Given the description of an element on the screen output the (x, y) to click on. 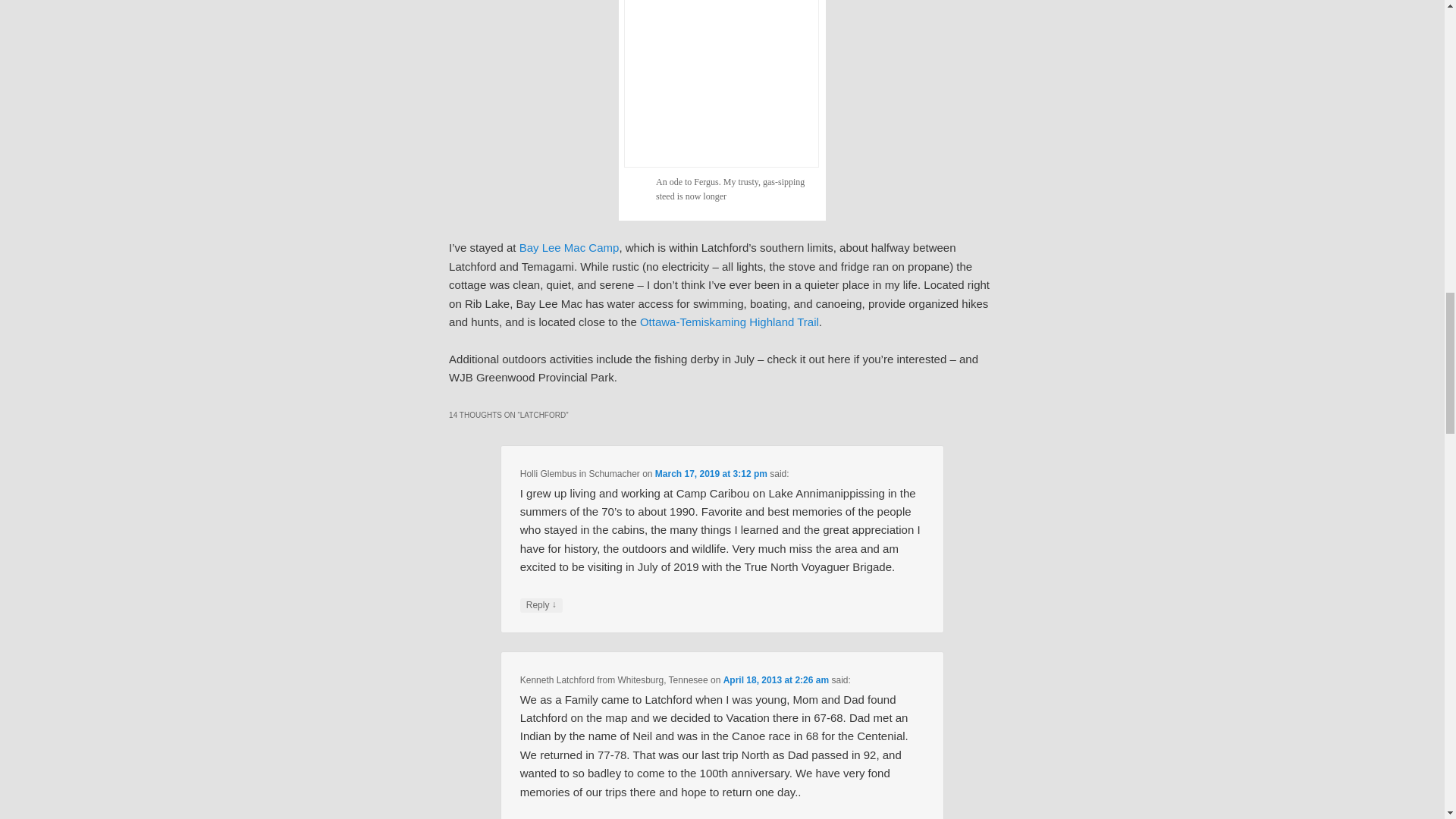
Bay Lee Mac Camp (569, 246)
April 18, 2013 at 2:26 am (775, 679)
March 17, 2019 at 3:12 pm (711, 473)
Highland Trail (729, 321)
Ottawa-Temiskaming Highland Trail (729, 321)
